Given the description of an element on the screen output the (x, y) to click on. 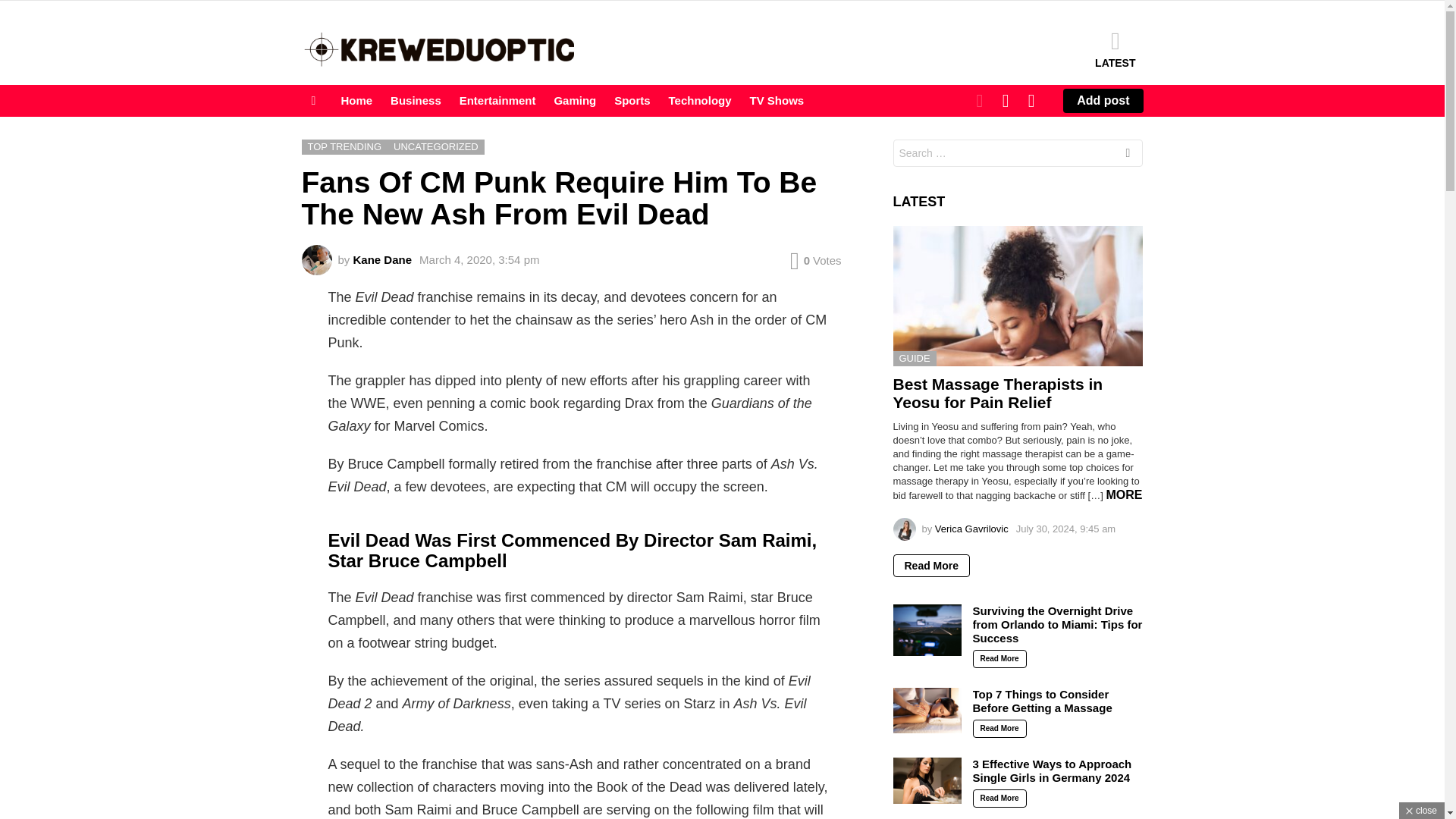
Technology (700, 100)
Home (356, 100)
Add post (1102, 100)
TV Shows (777, 100)
TOP TRENDING (344, 146)
Business (415, 100)
Gaming (575, 100)
Kane Dane (382, 259)
Sports (632, 100)
LATEST (1114, 48)
